Given the description of an element on the screen output the (x, y) to click on. 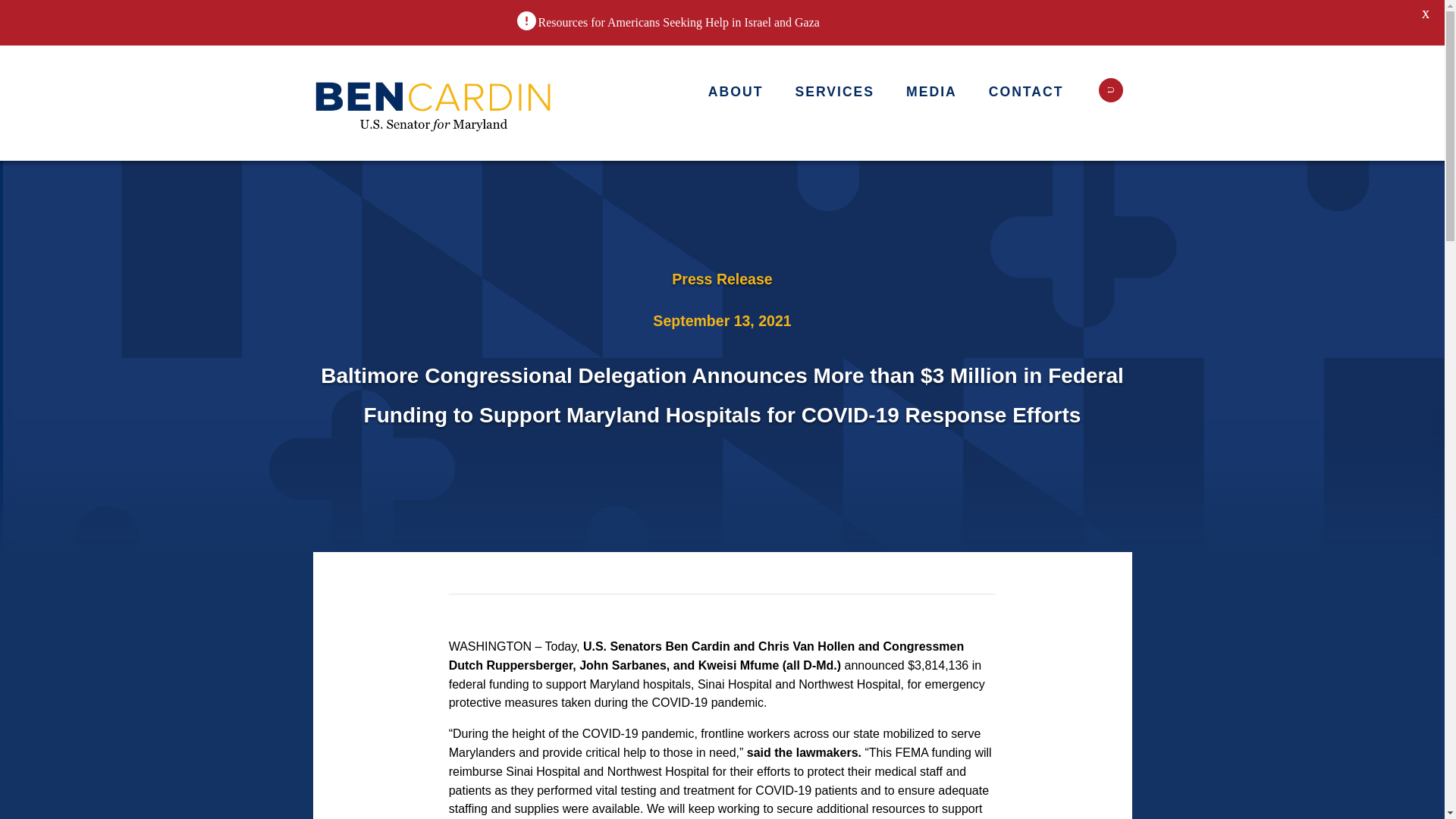
Large-Inner (433, 102)
